Given the description of an element on the screen output the (x, y) to click on. 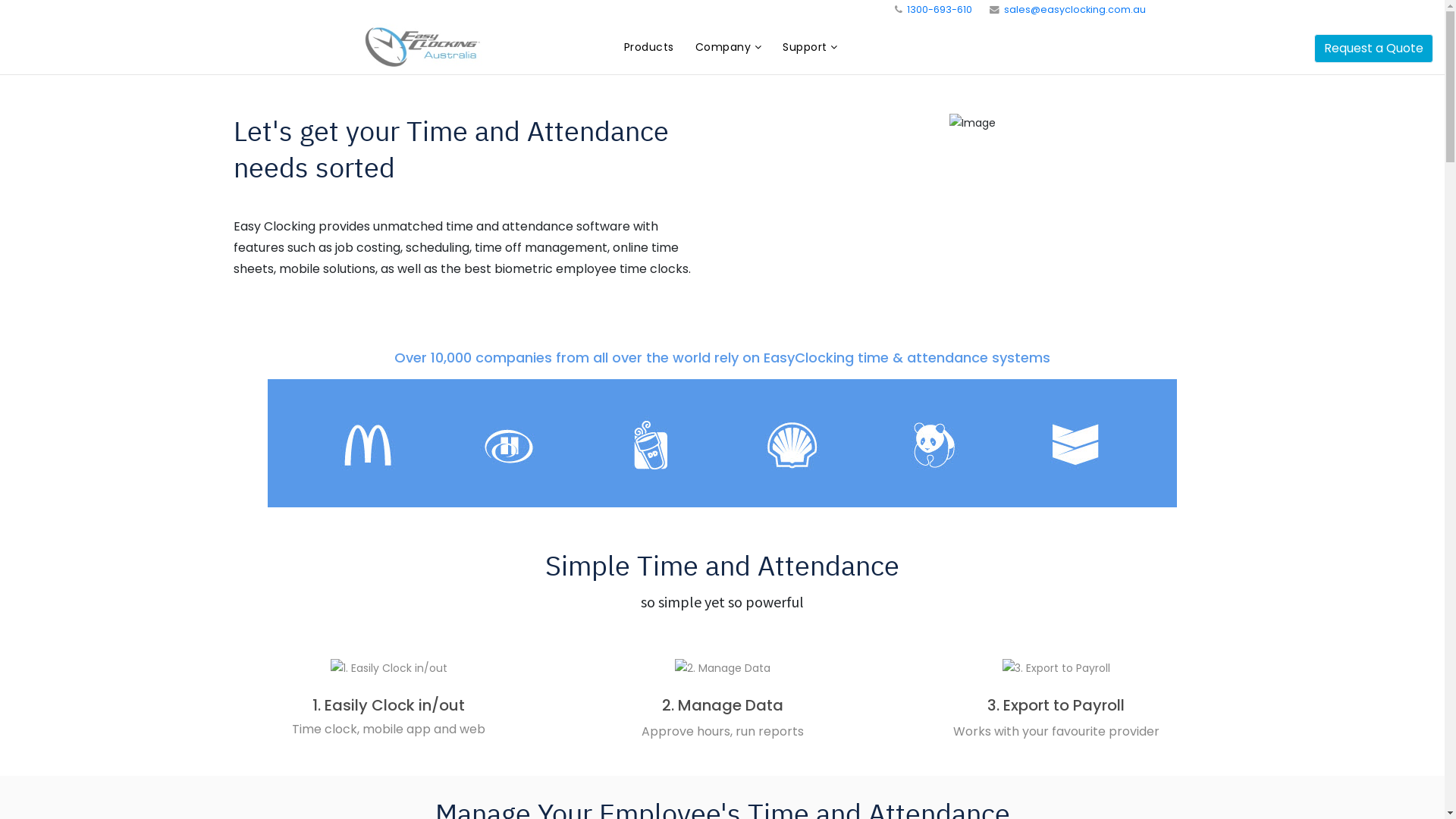
Request a Quote Element type: text (1373, 48)
Support Element type: text (809, 46)
1300-693-610 Element type: text (939, 9)
Products Element type: text (648, 46)
Company Element type: text (728, 46)
sales@easyclocking.com.au Element type: text (1074, 9)
